Given the description of an element on the screen output the (x, y) to click on. 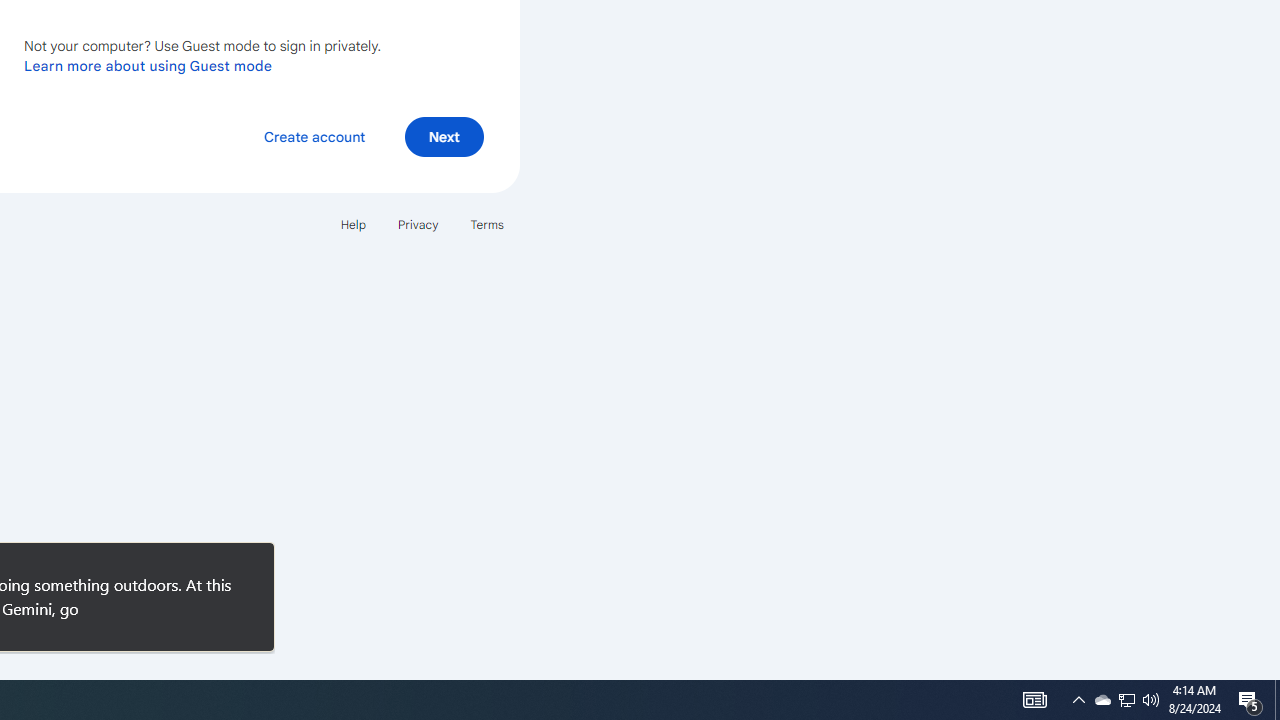
Create account (314, 135)
Help (352, 224)
Privacy (417, 224)
Next (443, 135)
Terms (486, 224)
Learn more about using Guest mode (148, 65)
